Given the description of an element on the screen output the (x, y) to click on. 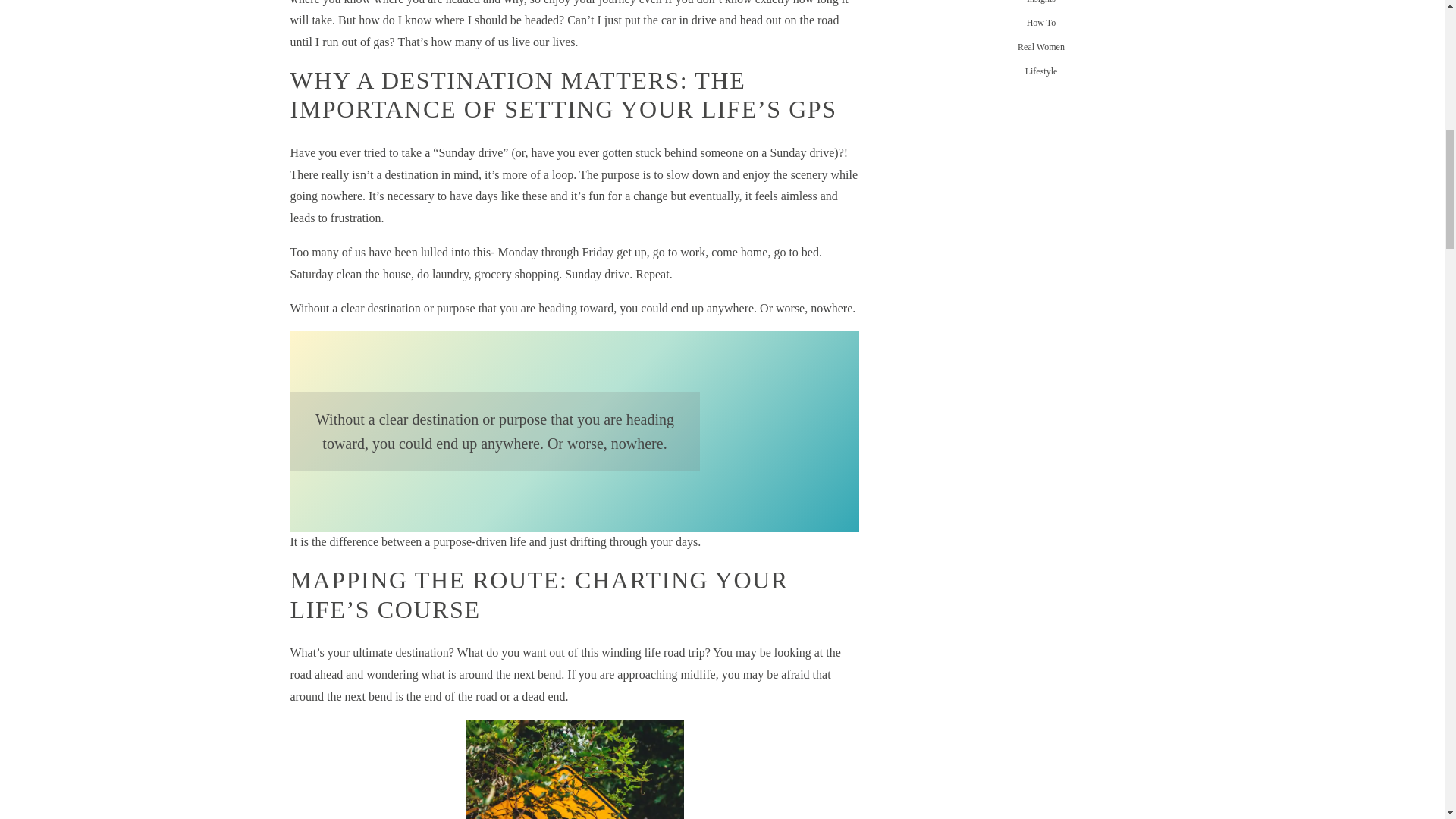
Like or Reblog (715, 13)
Real Women (1041, 48)
Insights (1041, 3)
Lifestyle (1041, 72)
How To (1041, 24)
